Given the description of an element on the screen output the (x, y) to click on. 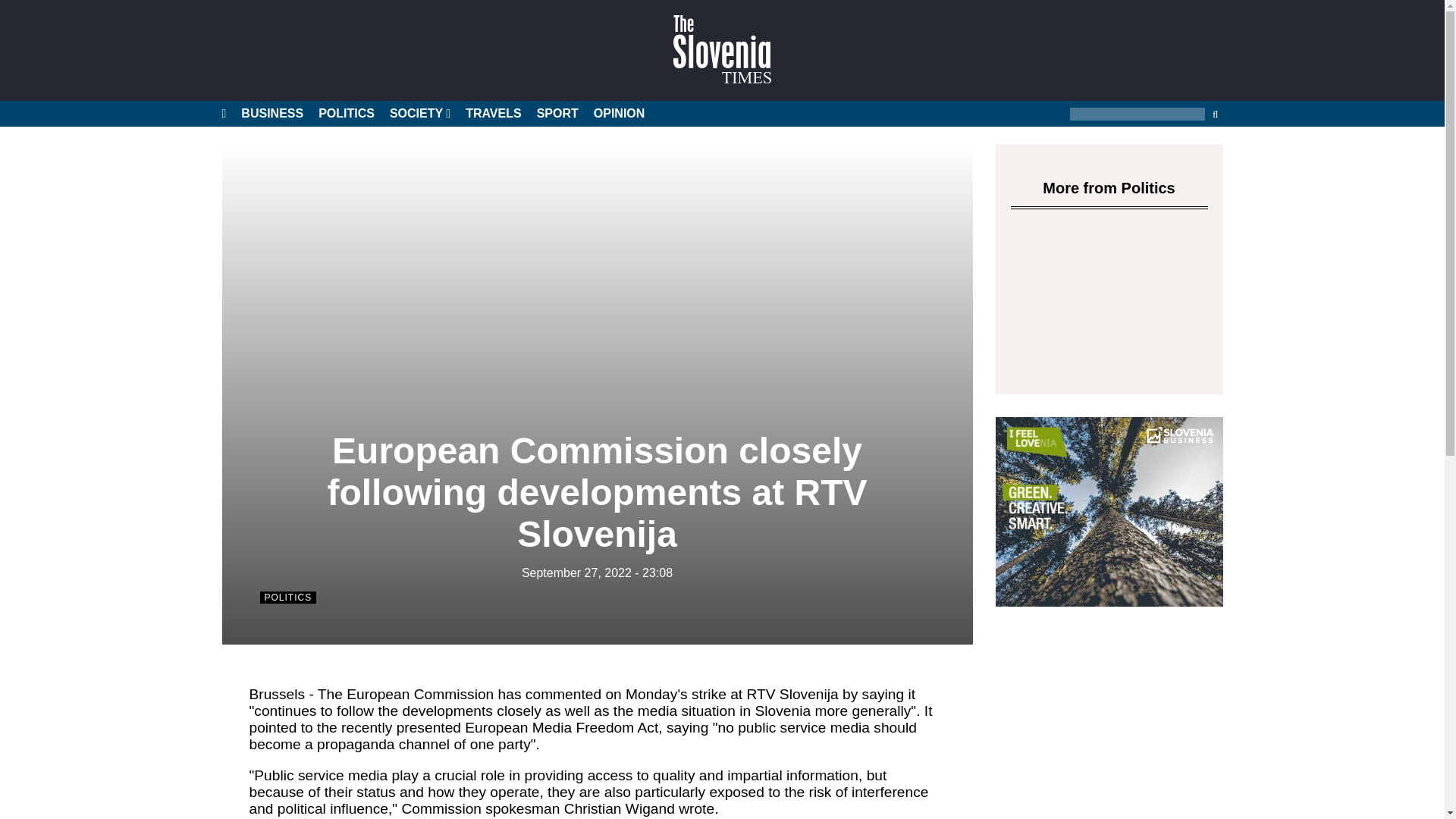
POLITICS (346, 113)
SPORT (557, 113)
OPINION (619, 113)
BUSINESS (271, 113)
TRAVELS (493, 113)
